Given the description of an element on the screen output the (x, y) to click on. 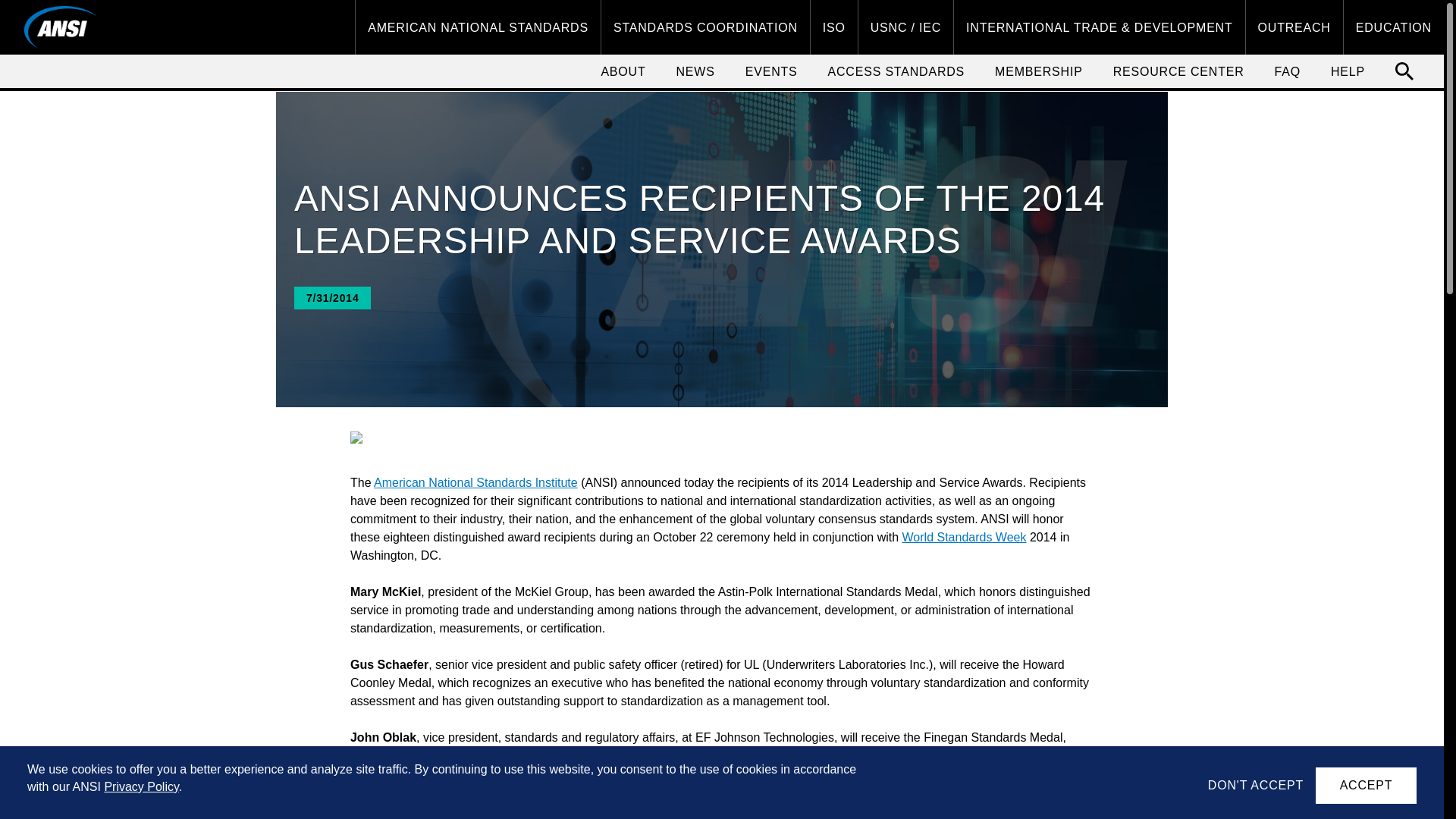
STANDARDS COORDINATION (705, 27)
Home (60, 26)
AMERICAN NATIONAL STANDARDS (477, 27)
